Given the description of an element on the screen output the (x, y) to click on. 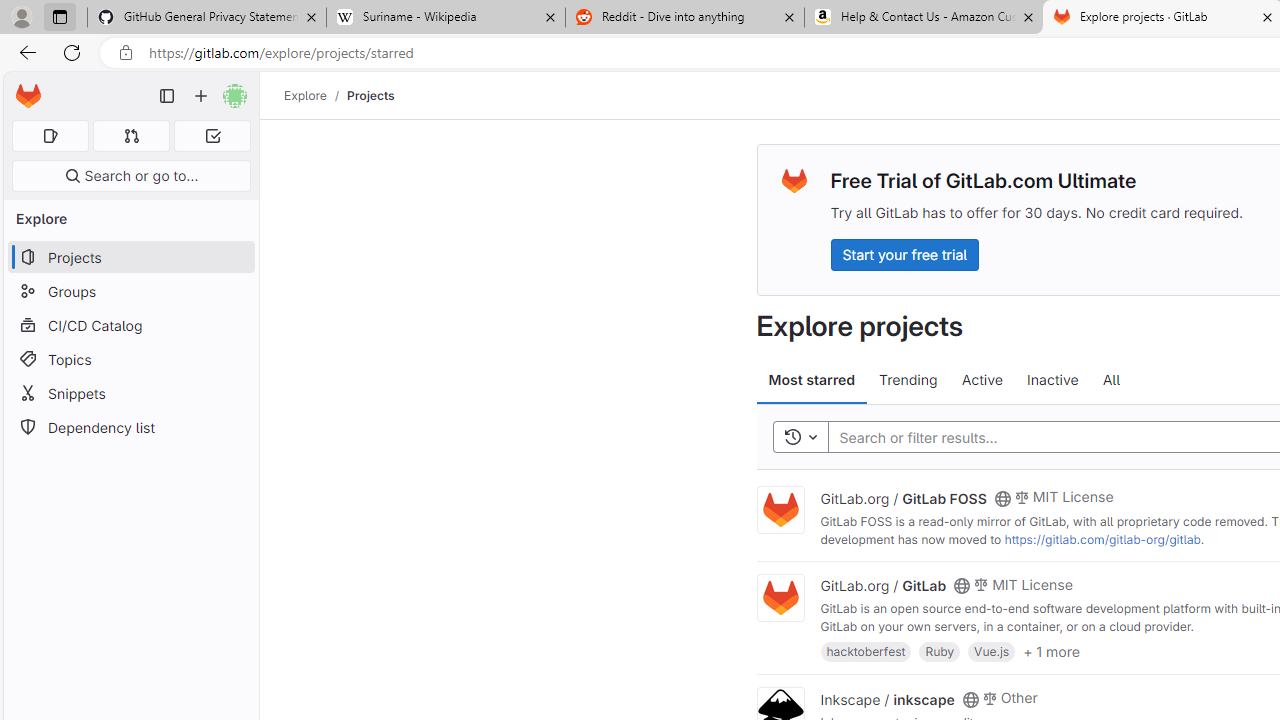
Explore/ (316, 95)
To-Do list 0 (212, 136)
Topics (130, 358)
Assigned issues 0 (50, 136)
Projects (370, 95)
Class: s14 gl-mr-2 (989, 696)
CI/CD Catalog (130, 325)
Merge requests 0 (131, 136)
Suriname - Wikipedia (445, 17)
+ 1 more (1051, 650)
https://gitlab.com/gitlab-org/gitlab (1101, 539)
Projects (370, 95)
